Given the description of an element on the screen output the (x, y) to click on. 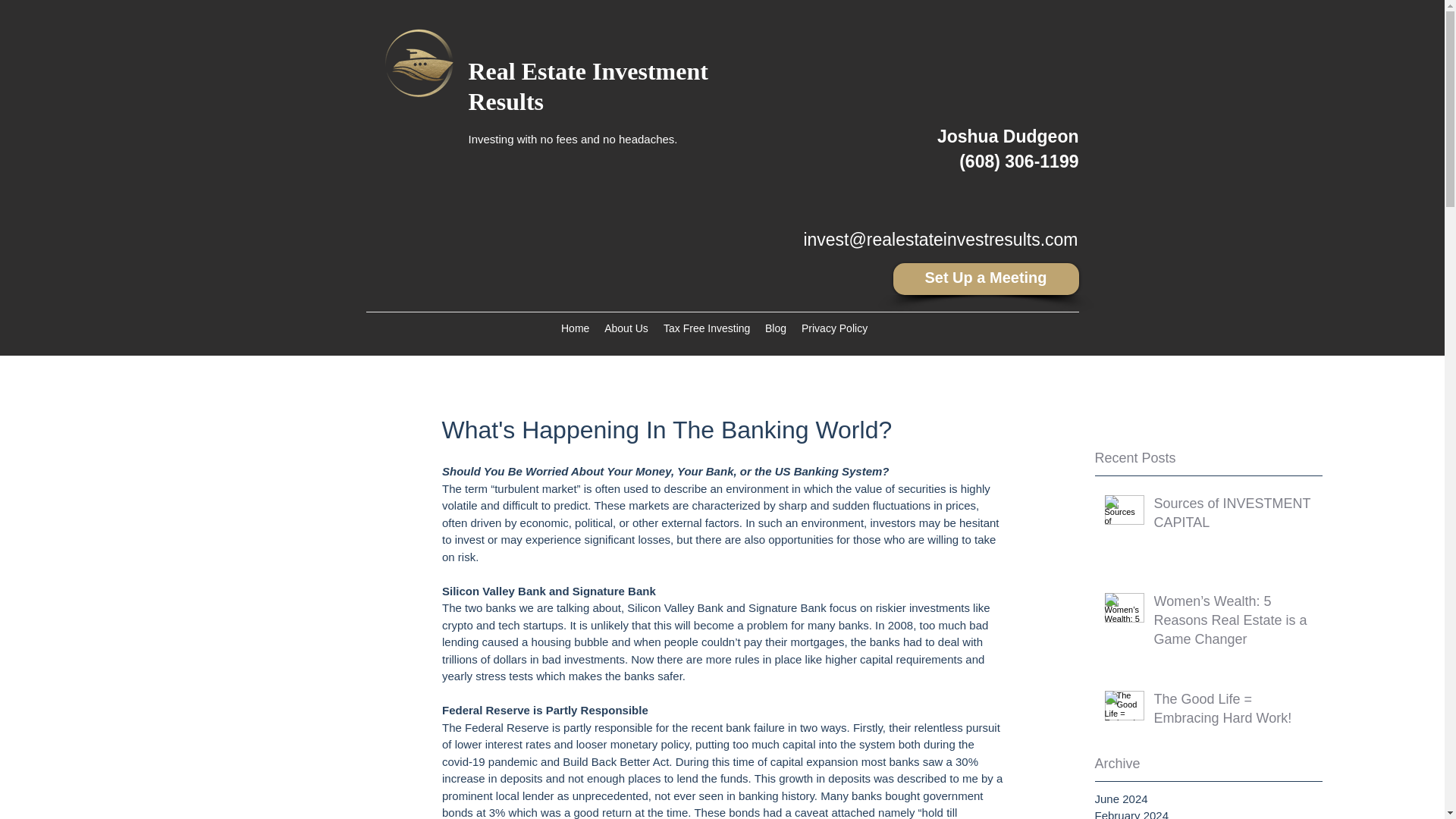
Sources of INVESTMENT CAPITAL (1233, 516)
June 2024 (1208, 799)
About Us (626, 328)
February 2024 (1208, 813)
Tax Free Investing (706, 328)
Privacy Policy (834, 328)
Set Up a Meeting (985, 278)
